Given the description of an element on the screen output the (x, y) to click on. 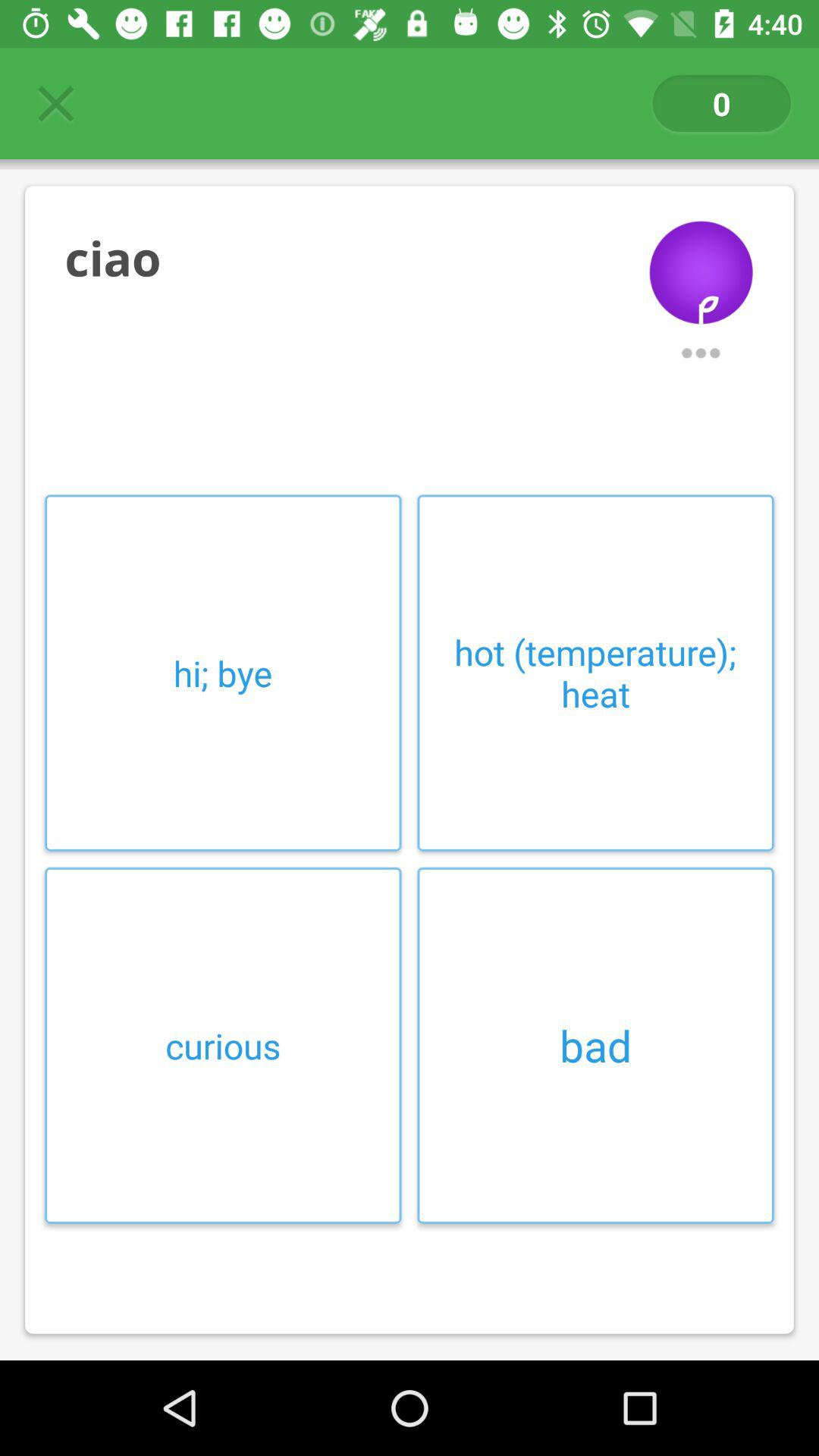
turn off item next to ciao (701, 260)
